Given the description of an element on the screen output the (x, y) to click on. 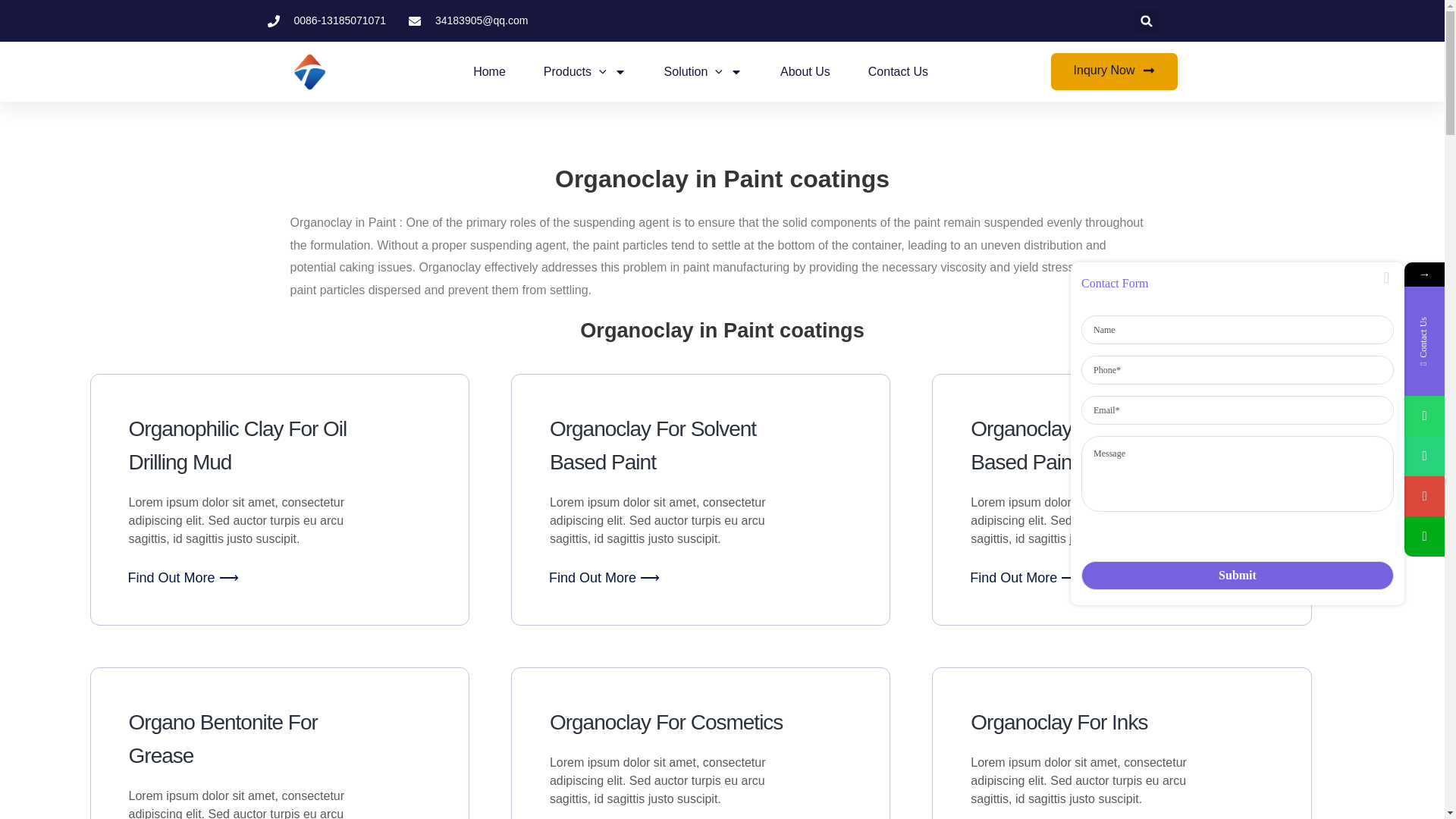
Home (489, 71)
Products (584, 71)
Solution (702, 71)
Submit (1237, 575)
